Given the description of an element on the screen output the (x, y) to click on. 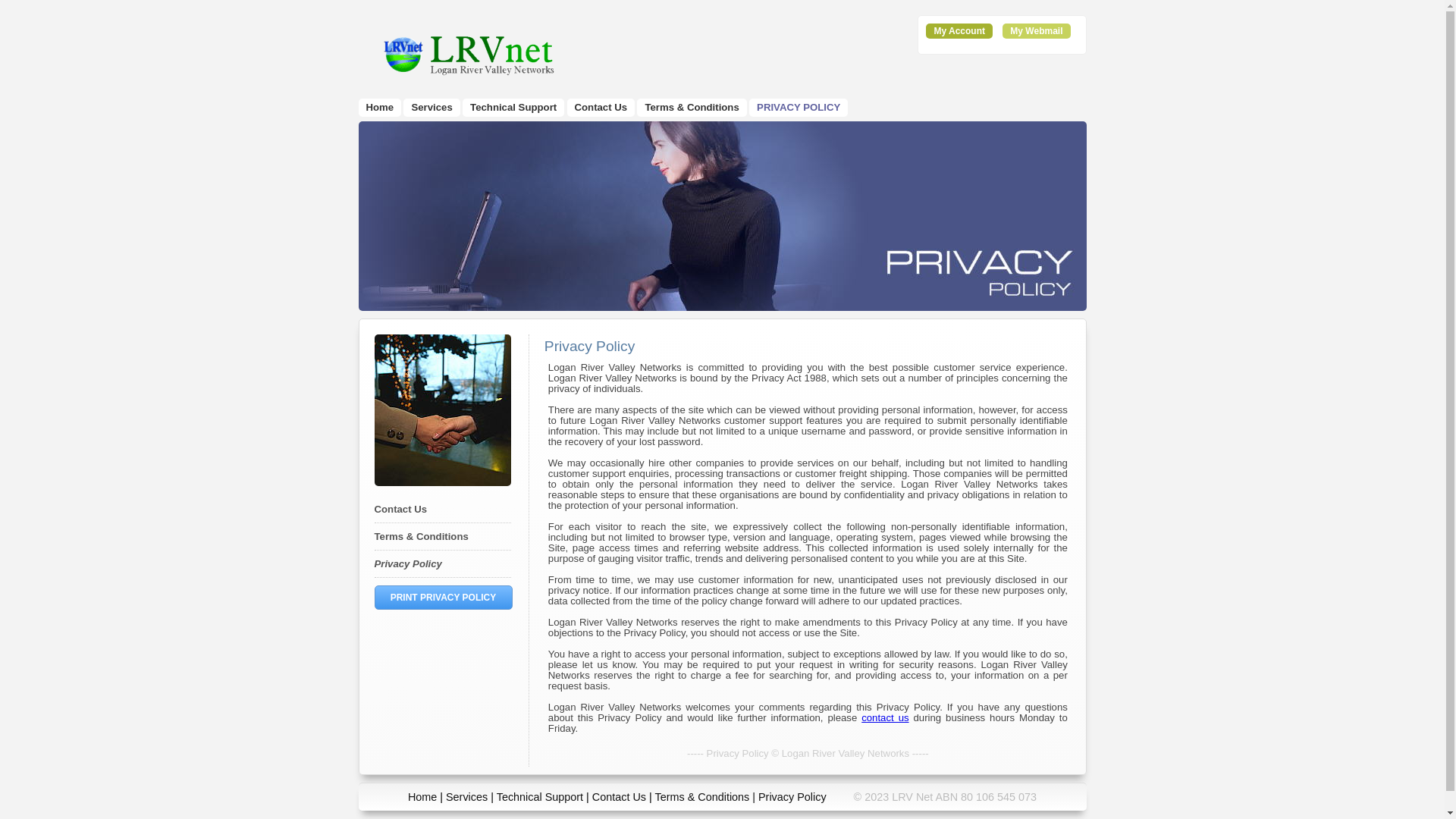
Contact Us Element type: text (600, 106)
My Webmail Element type: text (1036, 30)
Contact Us Element type: text (400, 508)
Services Element type: text (466, 796)
Home Element type: text (421, 796)
Terms & Conditions Element type: text (421, 536)
Technical Support Element type: text (513, 106)
LRV Net Element type: hover (468, 54)
contact us Element type: text (884, 717)
Terms & Conditions | Element type: text (707, 796)
Contact Us Element type: text (619, 796)
Privacy Policy Element type: text (408, 563)
Privacy Policy Element type: text (792, 796)
Home Element type: text (379, 106)
My Account Element type: text (959, 30)
PRINT PRIVACY POLICY Element type: text (443, 597)
Services Element type: text (431, 106)
Terms & Conditions Element type: text (691, 106)
Technical Support Element type: text (539, 796)
PRIVACY POLICY Element type: text (798, 106)
